Given the description of an element on the screen output the (x, y) to click on. 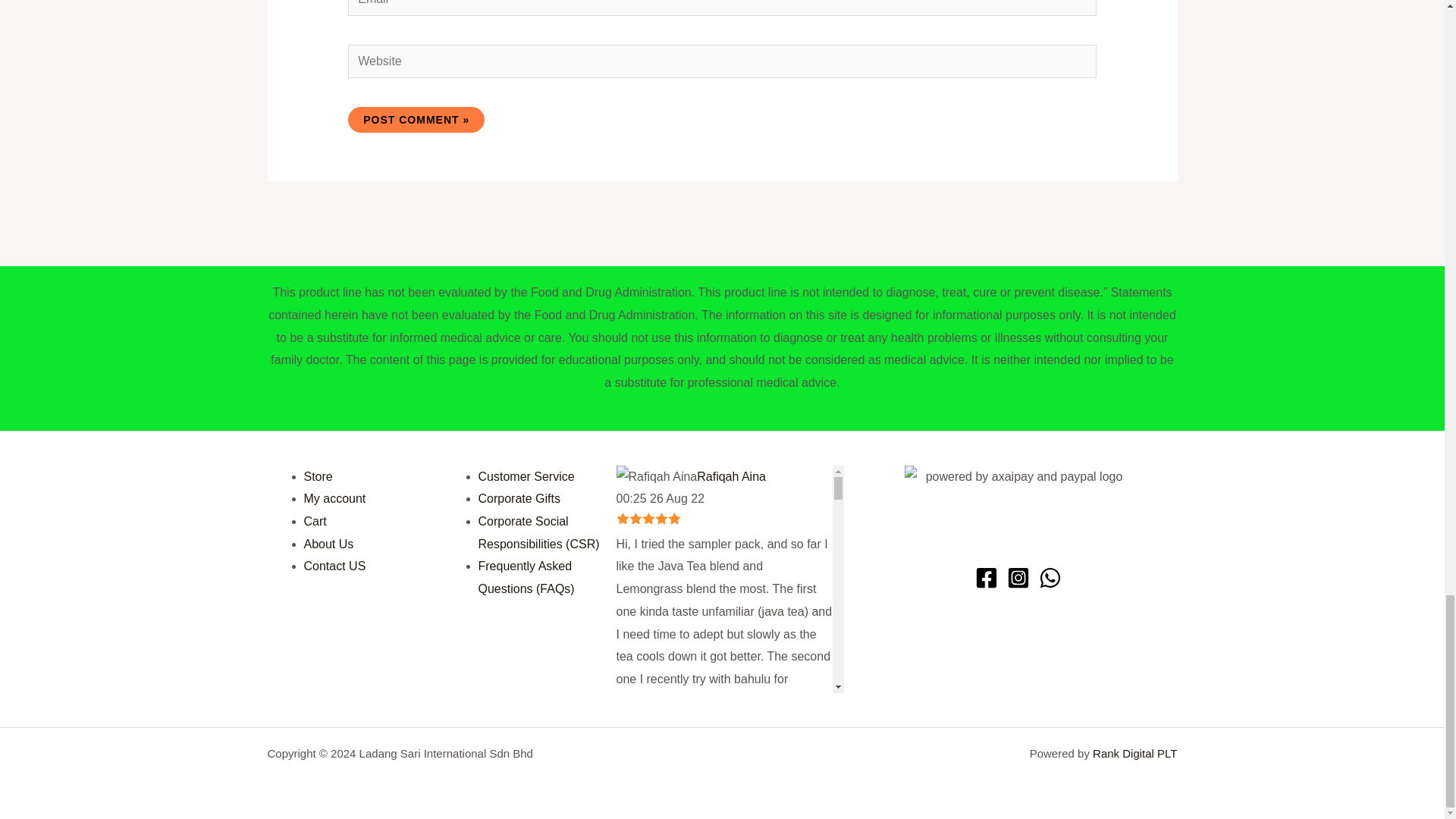
Cart (314, 521)
Rafiqah Aina (656, 477)
Customer Service (525, 476)
Corporate Gifts (518, 498)
Ayngaree Raj (658, 769)
Store (316, 476)
About Us (327, 543)
Contact US (333, 565)
My account (333, 498)
